Given the description of an element on the screen output the (x, y) to click on. 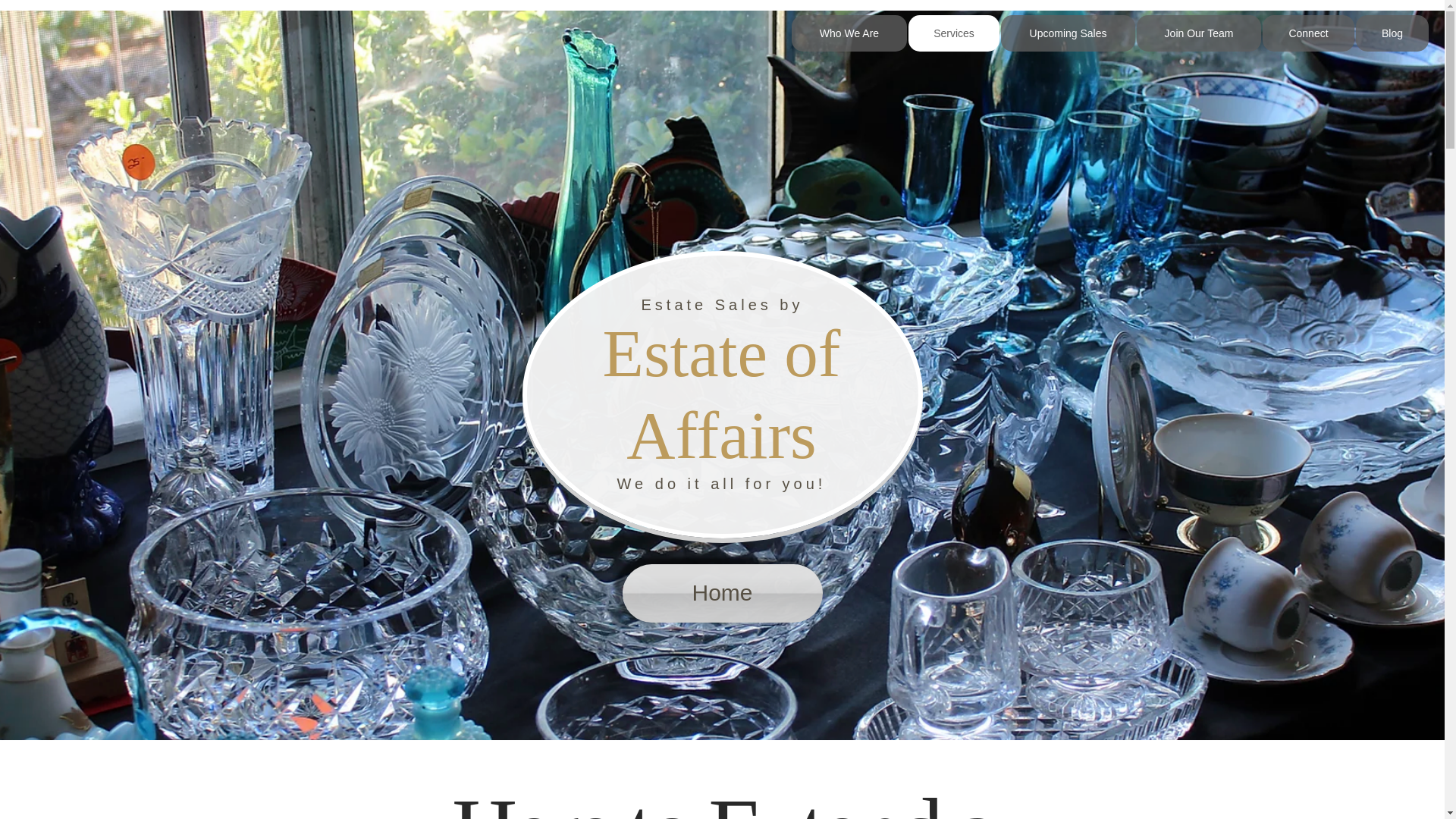
Who We Are (849, 33)
Home (721, 593)
Join Our Team (1198, 33)
Upcoming Sales (1068, 33)
Blog (1391, 33)
Services (953, 33)
Connect (1308, 33)
